Given the description of an element on the screen output the (x, y) to click on. 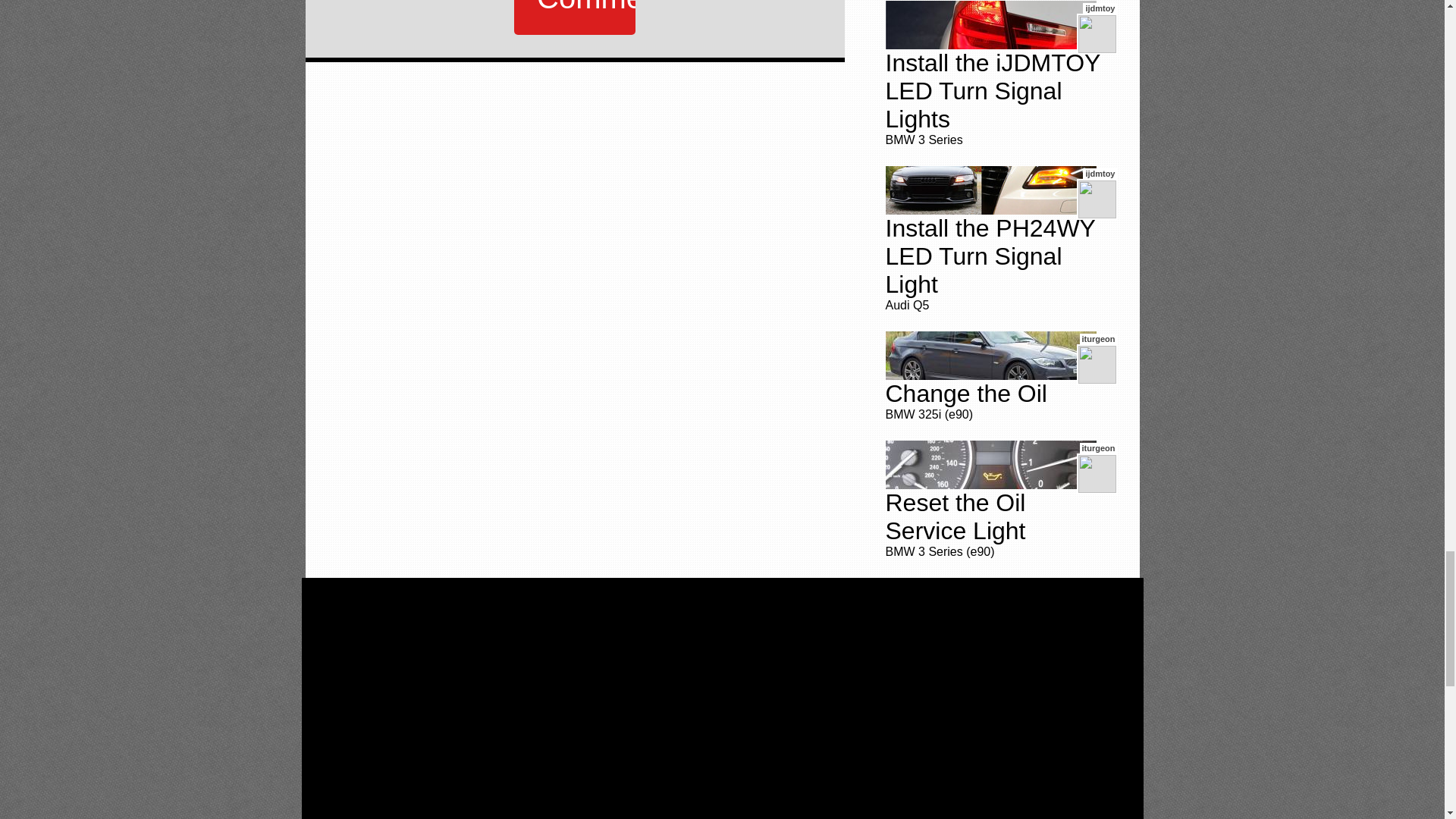
Comment (573, 17)
Comment (573, 17)
